Given the description of an element on the screen output the (x, y) to click on. 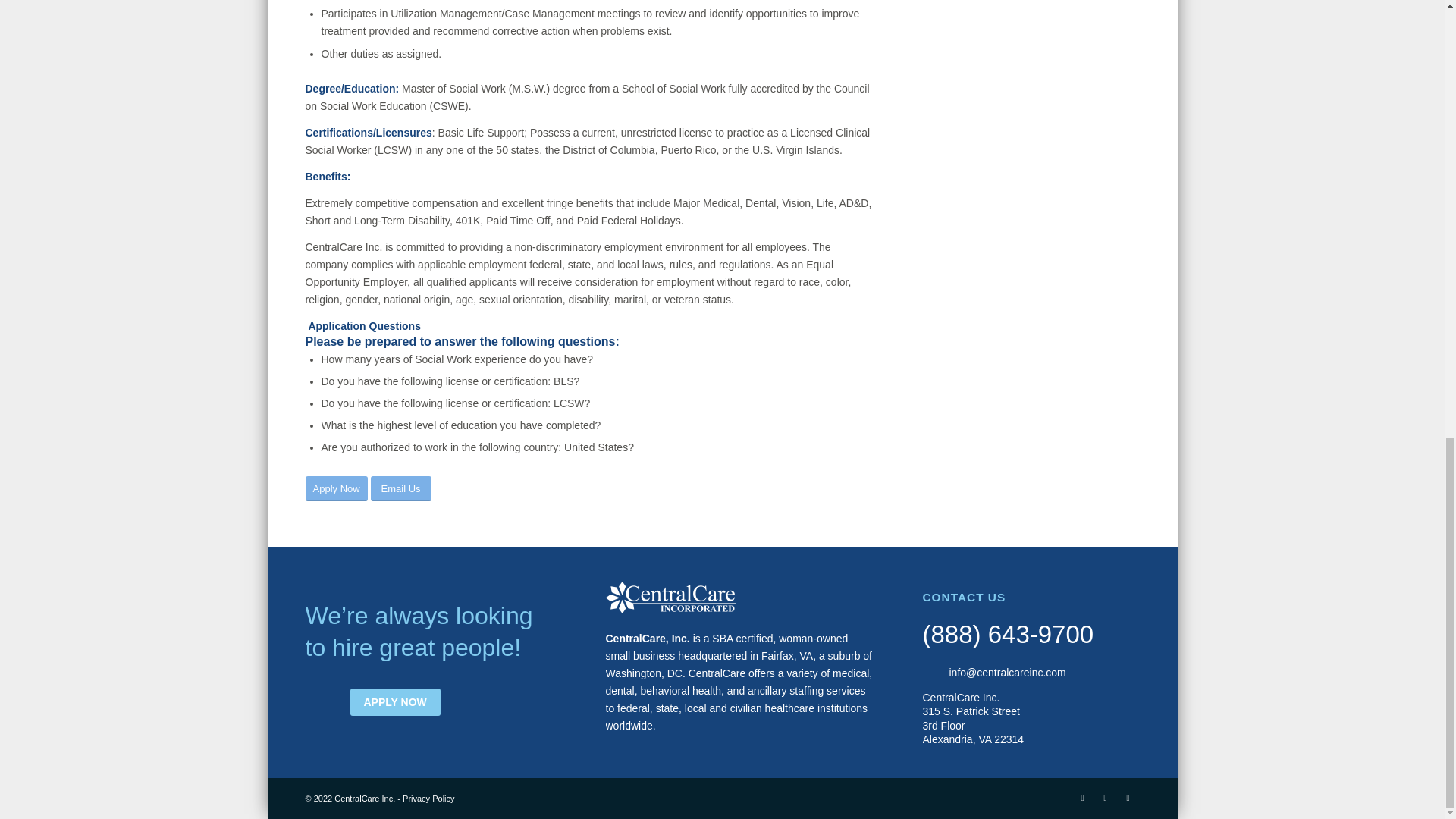
Privacy Policy (428, 798)
Email Us (400, 488)
APPLY NOW (395, 701)
Apply Now (335, 488)
